Given the description of an element on the screen output the (x, y) to click on. 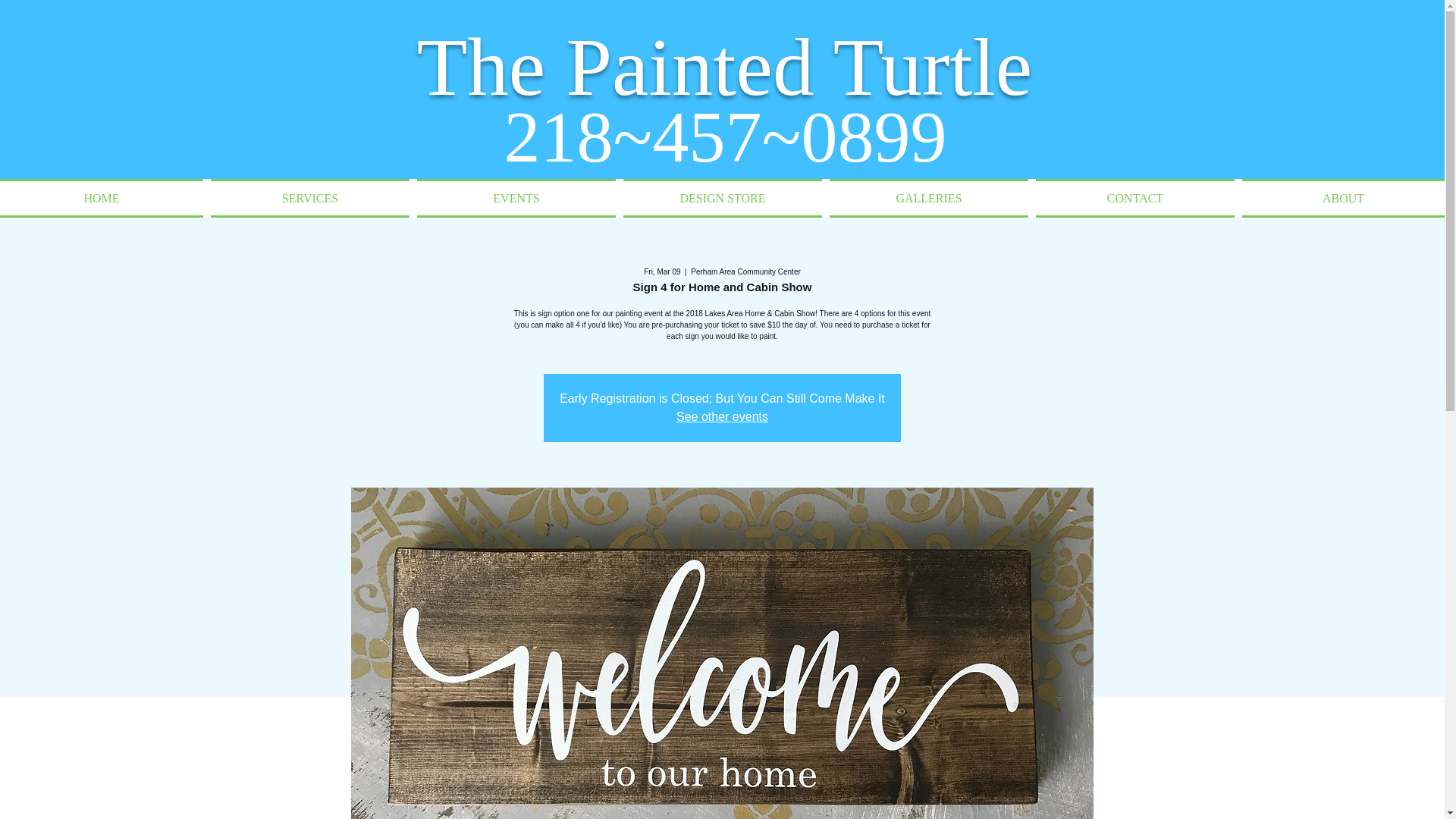
SERVICES (309, 198)
EVENTS (516, 198)
DESIGN STORE (722, 198)
Log In (1014, 116)
GALLERIES (928, 198)
CONTACT (1135, 198)
HOME (103, 198)
See other events (722, 416)
